Given the description of an element on the screen output the (x, y) to click on. 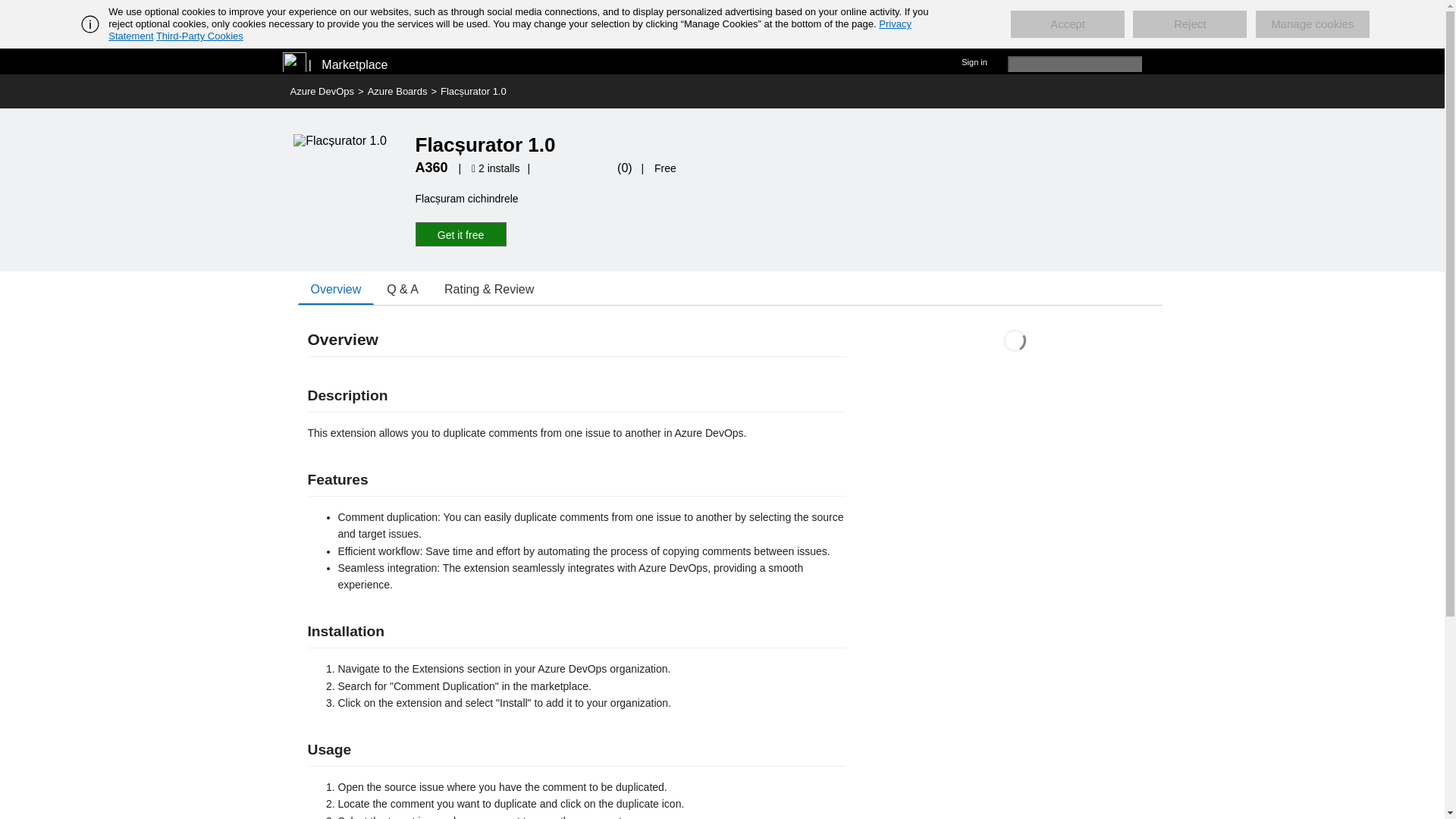
Accept (1067, 23)
Third-Party Cookies (199, 35)
Get it free (460, 234)
Azure Boards (398, 91)
A360 (431, 167)
Overview (335, 289)
Average rating: 0 out of 5 (582, 168)
Manage cookies (1312, 23)
Reject (1189, 23)
Azure DevOps (321, 91)
Privacy Statement (509, 29)
The number of unique installations, not including updates. (497, 168)
Sign in (973, 61)
